Given the description of an element on the screen output the (x, y) to click on. 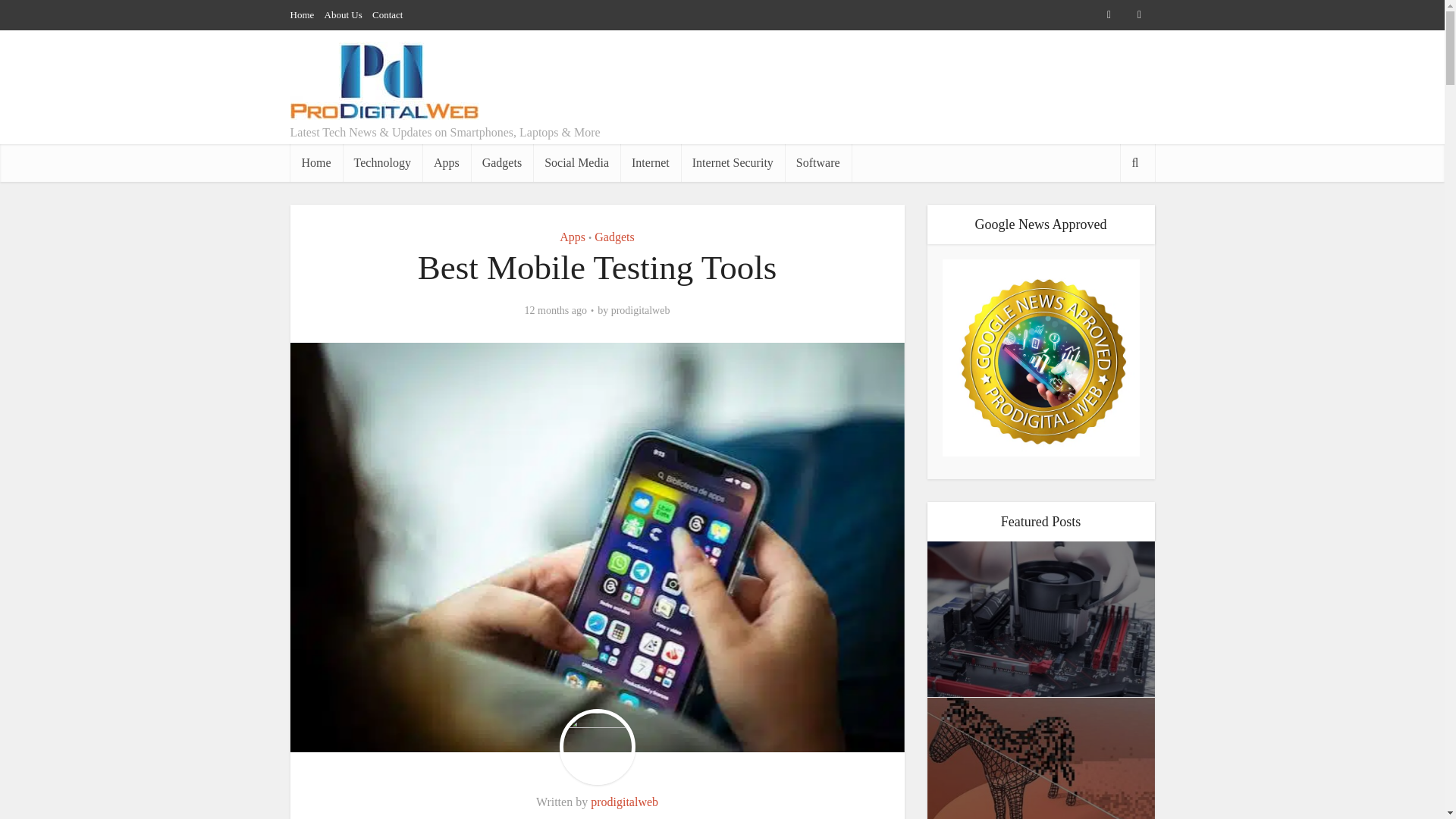
Home (301, 14)
Gadgets (613, 236)
prodigitalweb (624, 801)
Software (817, 162)
Internet Security (732, 162)
Contact (387, 14)
Apps (572, 236)
Home (315, 162)
Technology (382, 162)
Social Media (576, 162)
